Given the description of an element on the screen output the (x, y) to click on. 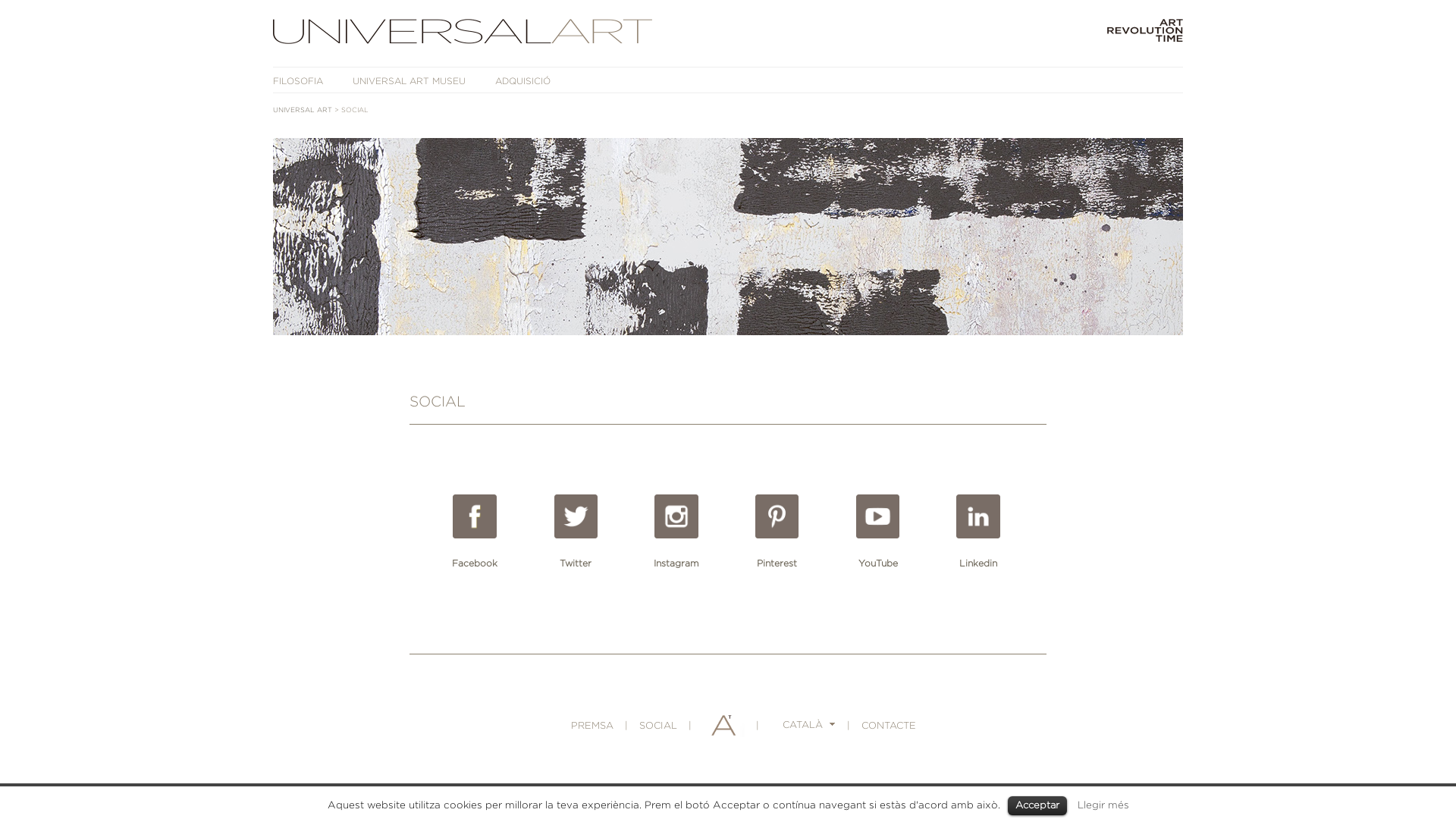
UNIVERSAL ART Element type: text (302, 109)
Linkedin Element type: text (978, 530)
Twitter Element type: text (575, 530)
Instagram Element type: text (676, 530)
CONTACTE Element type: text (888, 725)
YouTube Element type: text (878, 530)
PREMSA Element type: text (591, 725)
Pinterest Element type: text (777, 530)
UNIVERSAL ART MUSEU Element type: text (408, 80)
Acceptar Element type: text (1036, 805)
Facebook Element type: text (474, 530)
SOCIAL Element type: text (657, 725)
FILOSOFIA Element type: text (298, 80)
